Given the description of an element on the screen output the (x, y) to click on. 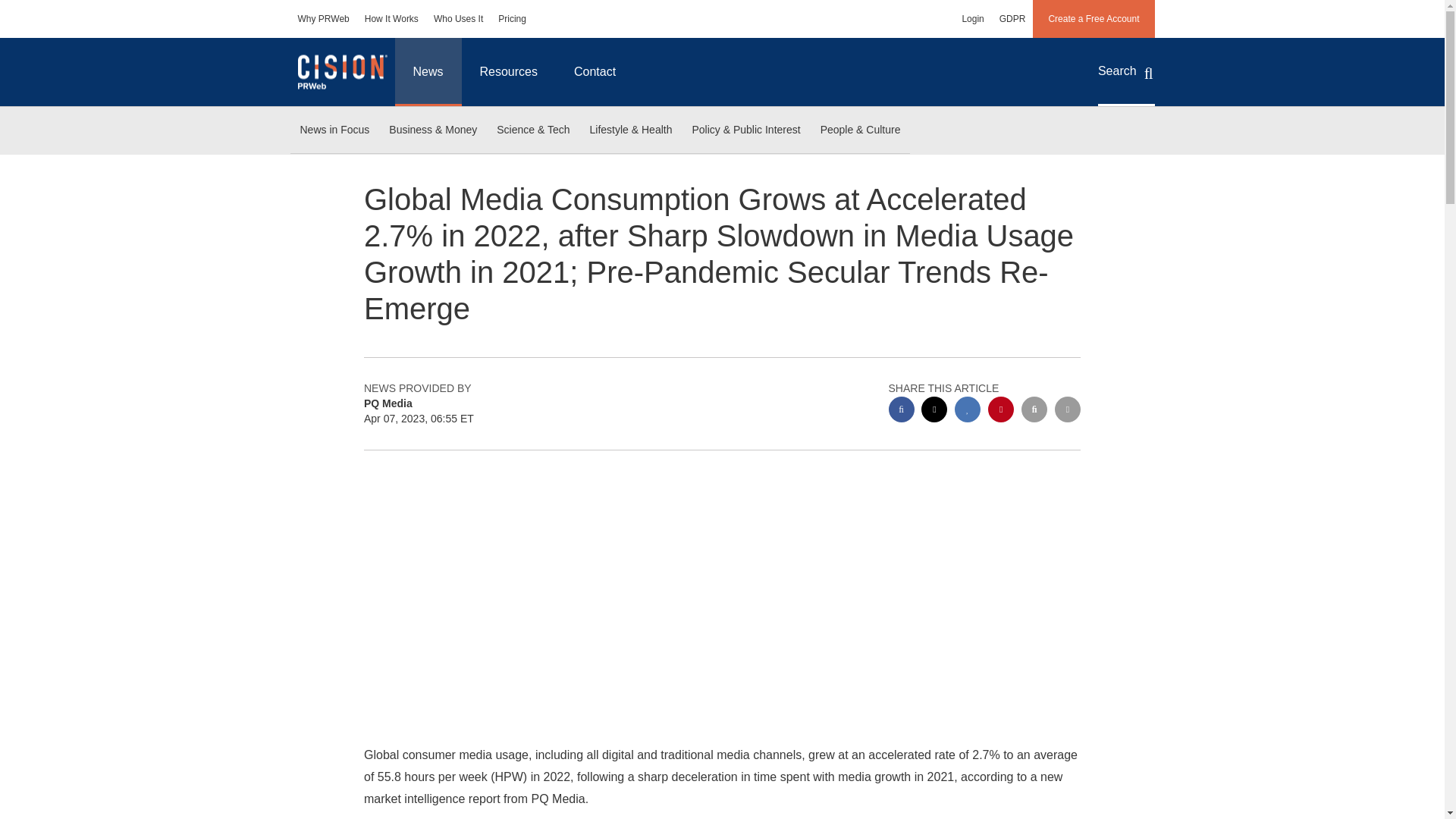
News in Focus (333, 130)
